Given the description of an element on the screen output the (x, y) to click on. 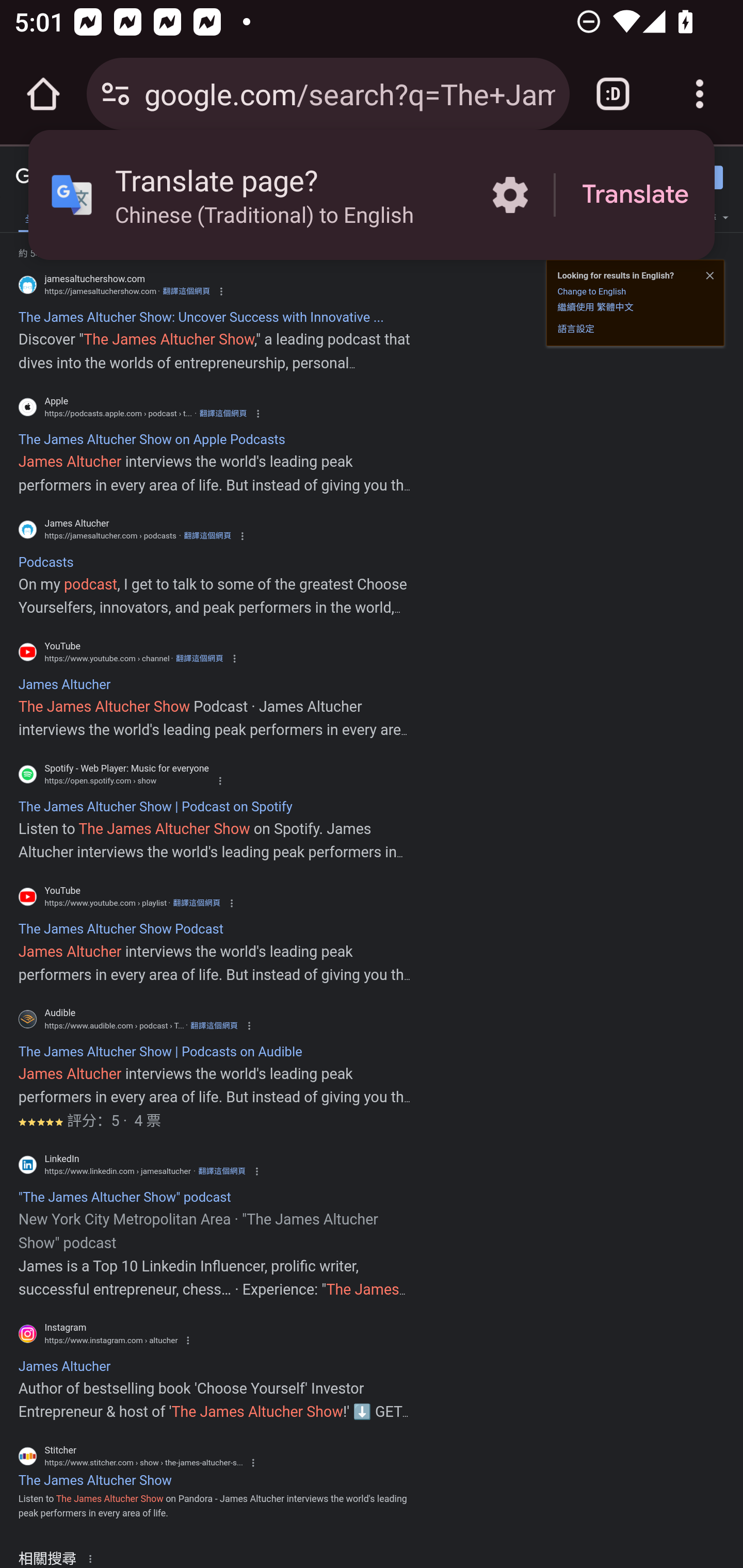
Open the home page (43, 93)
Connection is secure (115, 93)
Switch or close tabs (612, 93)
Customize and control Google Chrome (699, 93)
Translate (634, 195)
More options in the Translate page? (509, 195)
翻譯這個網頁 (185, 291)
Change to English (591, 291)
繼續使用 繁體中文 繼續使用  繁體中文 (595, 306)
語言設定 (576, 328)
翻譯這個網頁 (223, 413)
翻譯這個網頁 (207, 535)
翻譯這個網頁 (199, 658)
翻譯這個網頁 (196, 902)
翻譯這個網頁 (213, 1025)
翻譯這個網頁 (221, 1171)
關於此結果 (93, 1557)
